Given the description of an element on the screen output the (x, y) to click on. 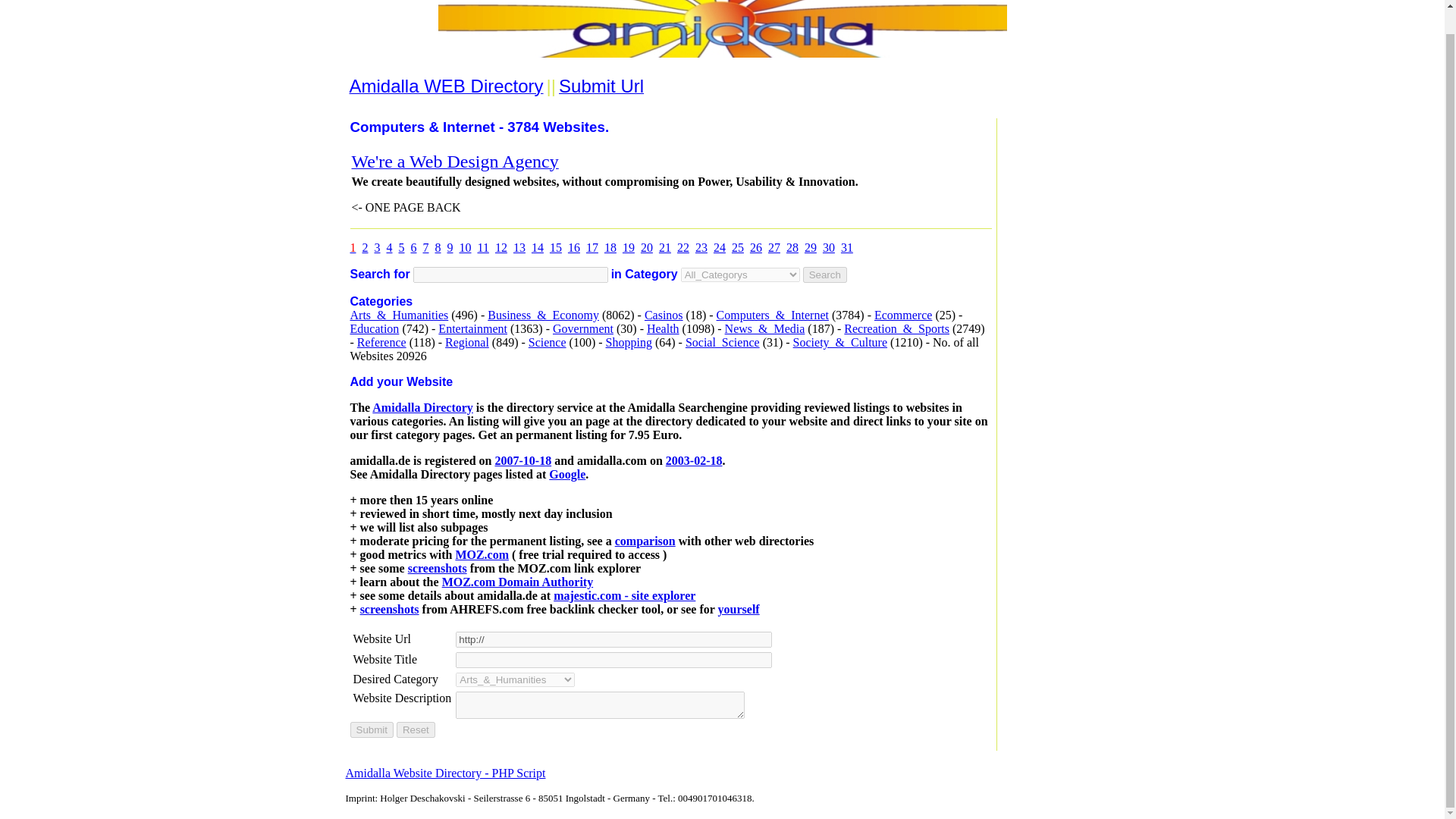
5 (401, 246)
18 (609, 246)
Search (825, 274)
27 (774, 246)
7 (426, 246)
8 (438, 246)
We're a Web Design Agency (455, 163)
28 (791, 246)
19 (628, 246)
12 (500, 246)
21 (665, 246)
15 (556, 246)
29 (810, 246)
23 (701, 246)
Search (825, 274)
